Given the description of an element on the screen output the (x, y) to click on. 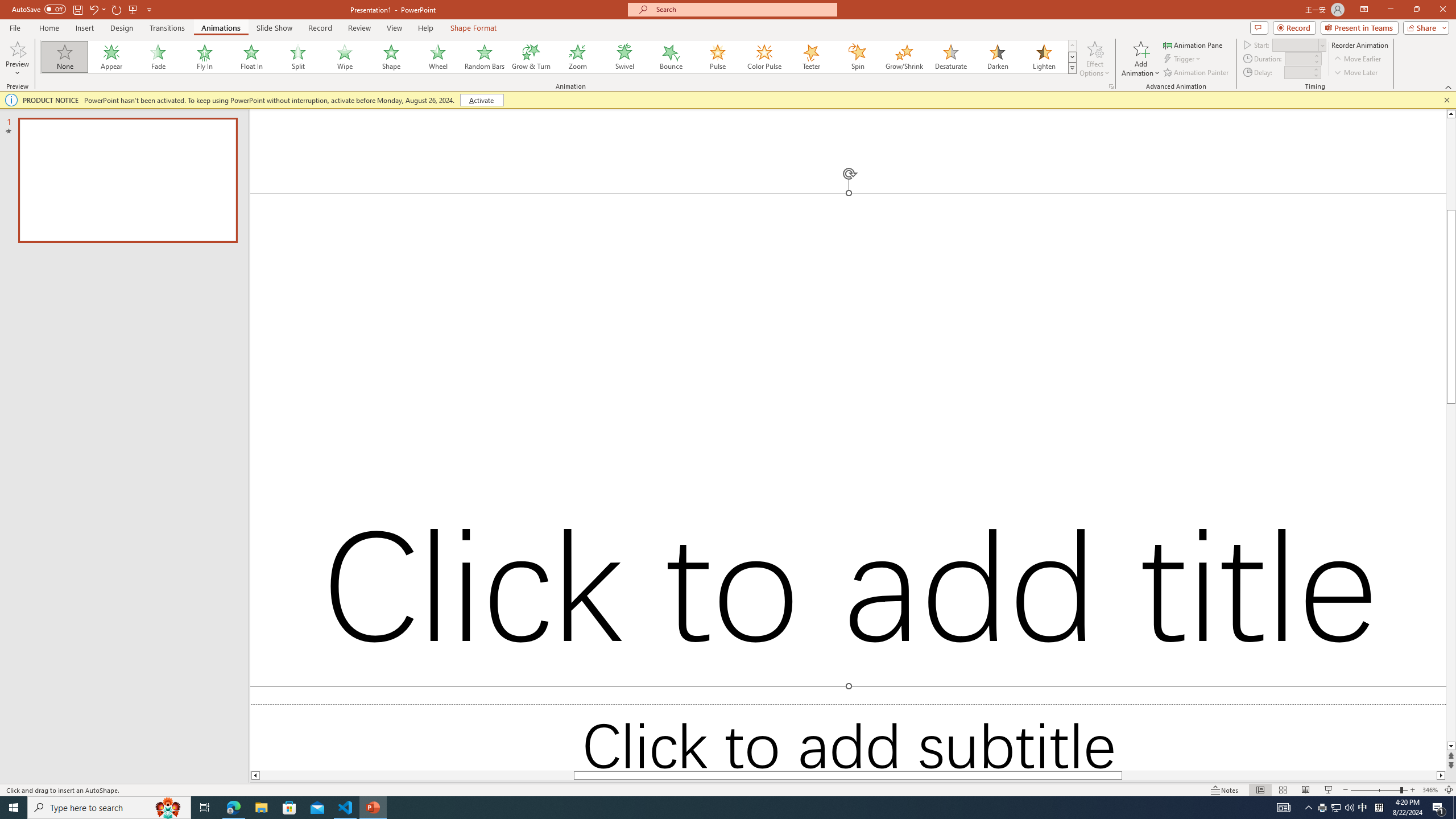
Fade (158, 56)
Wipe (344, 56)
Activate (481, 100)
Move Later (1355, 72)
Animation Pane (1193, 44)
